Given the description of an element on the screen output the (x, y) to click on. 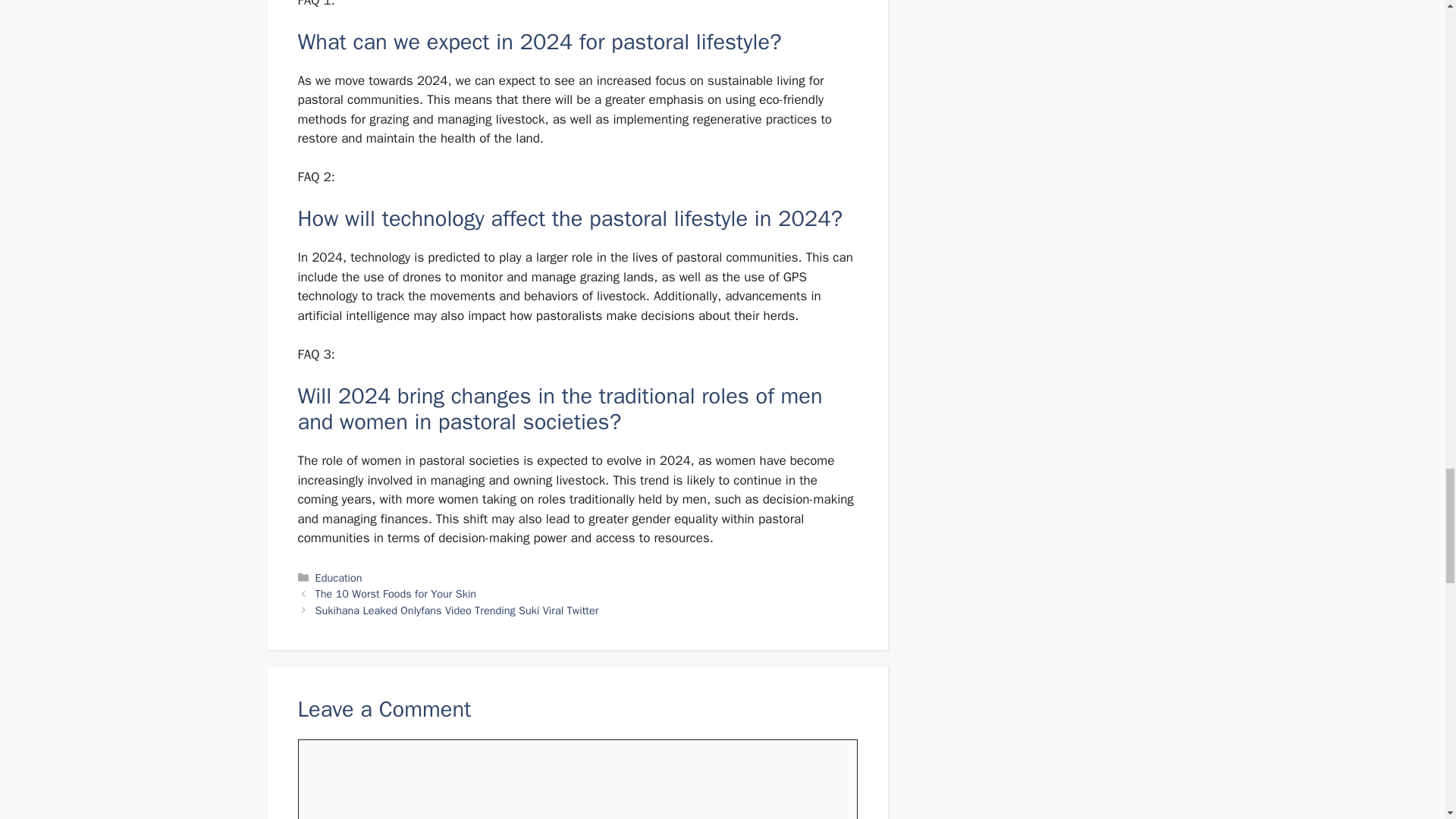
Education (338, 577)
The 10 Worst Foods for Your Skin (396, 593)
Sukihana Leaked Onlyfans Video Trending Suki Viral Twitter (456, 610)
